Given the description of an element on the screen output the (x, y) to click on. 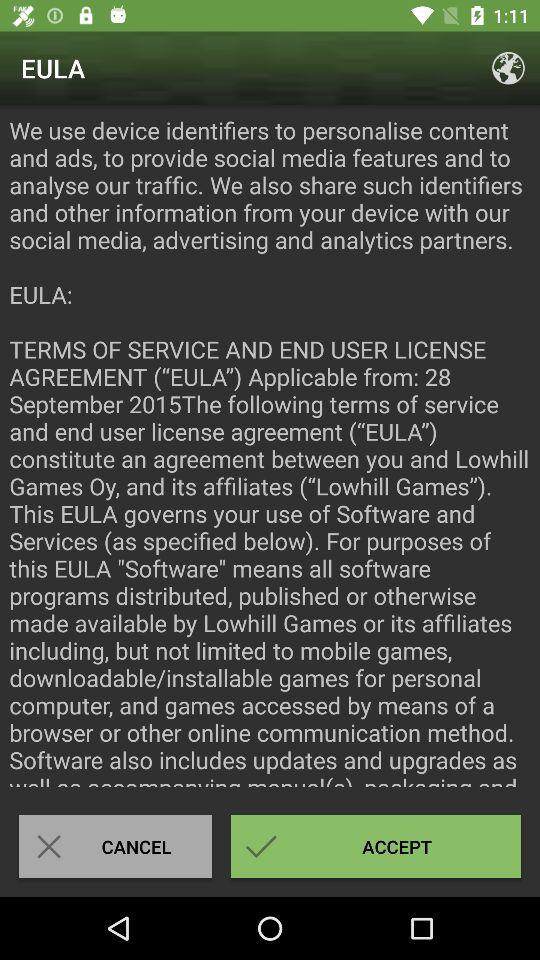
open icon at the top right corner (508, 67)
